Given the description of an element on the screen output the (x, y) to click on. 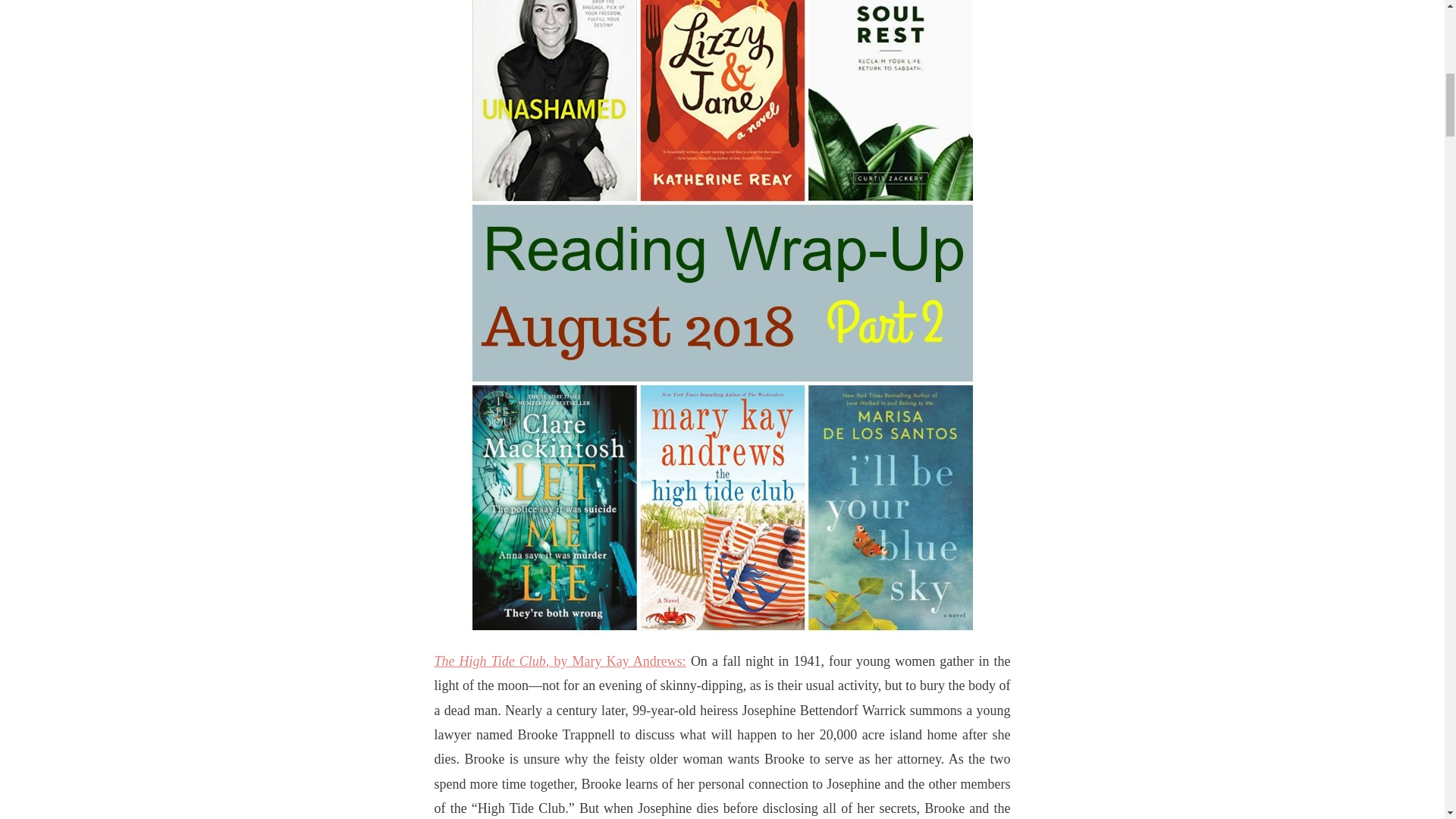
The High Tide Club, by Mary Kay Andrews: (559, 661)
